Given the description of an element on the screen output the (x, y) to click on. 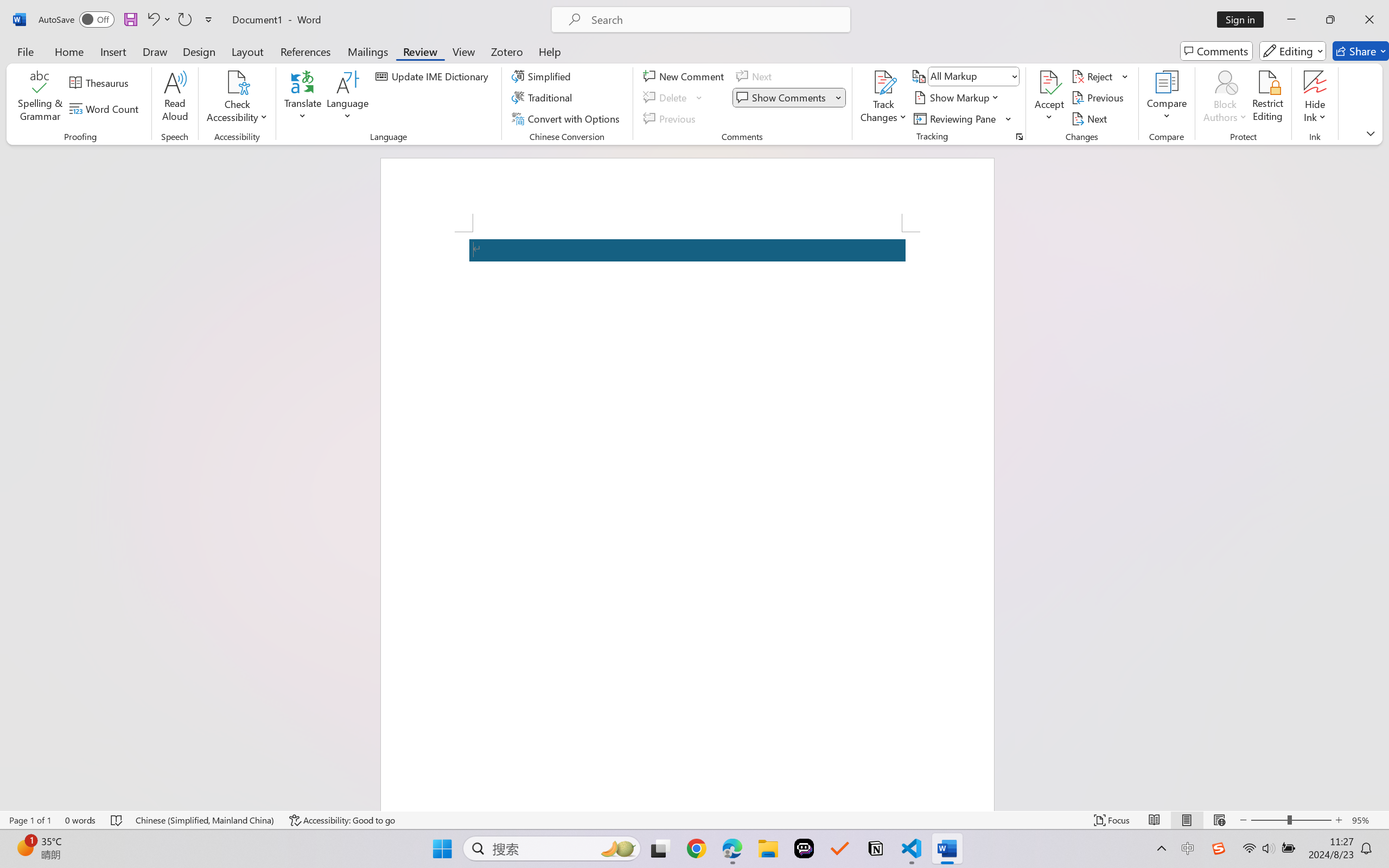
Restrict Editing (1267, 97)
Block Authors (1224, 97)
Show Markup (957, 97)
Sign in (1244, 19)
Reject (1100, 75)
